Given the description of an element on the screen output the (x, y) to click on. 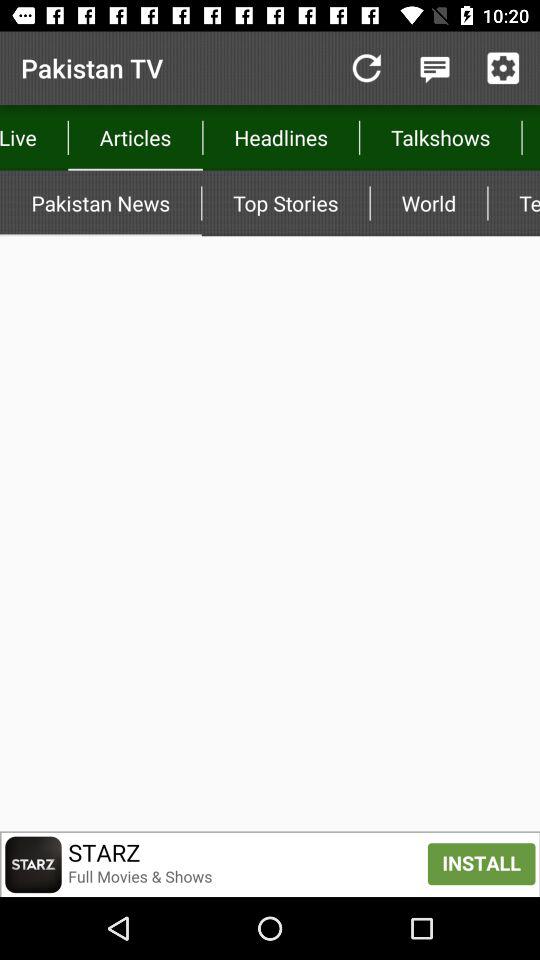
settings (503, 67)
